Given the description of an element on the screen output the (x, y) to click on. 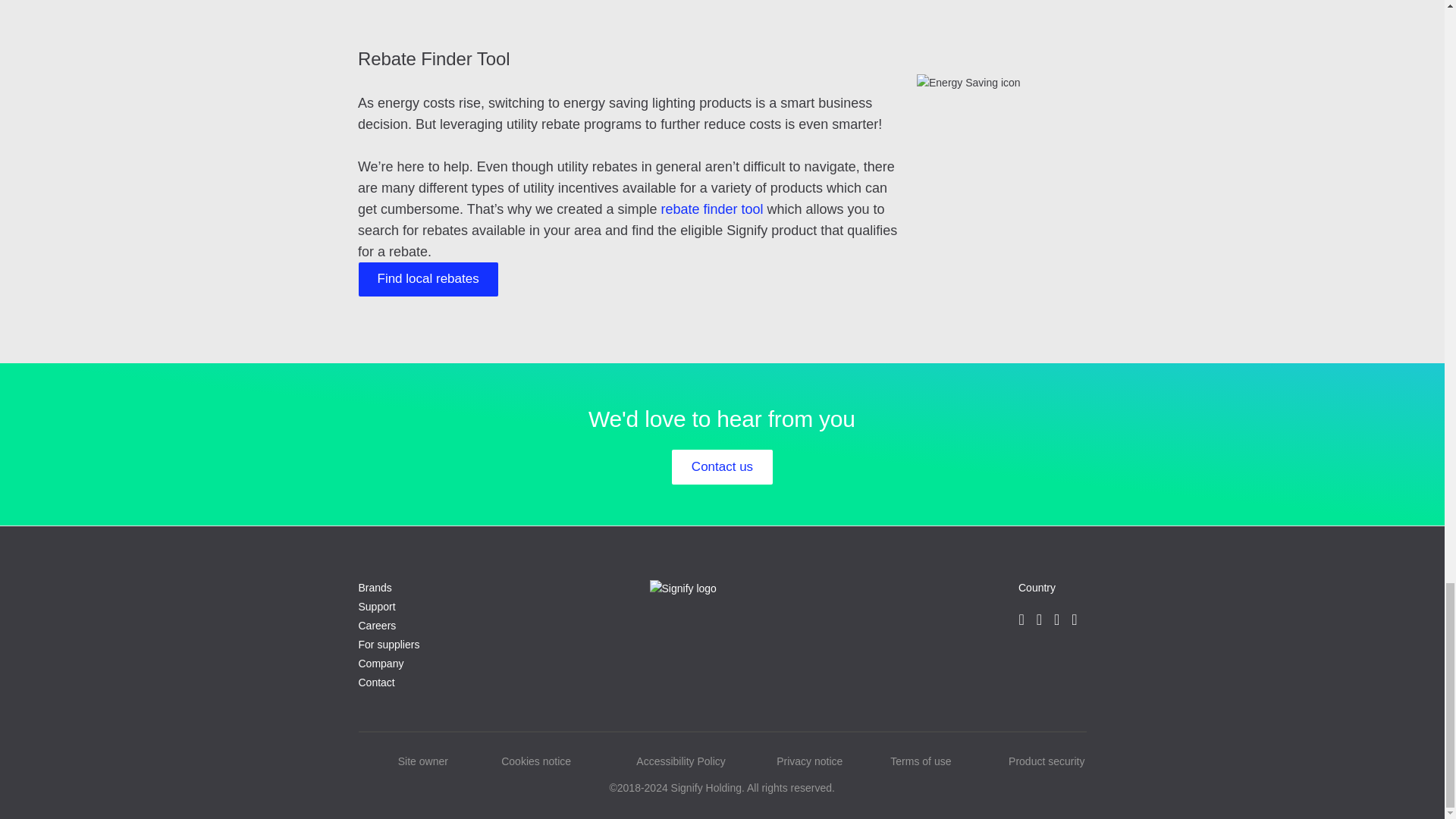
Contact us (722, 466)
Find local rebates (427, 278)
